Given the description of an element on the screen output the (x, y) to click on. 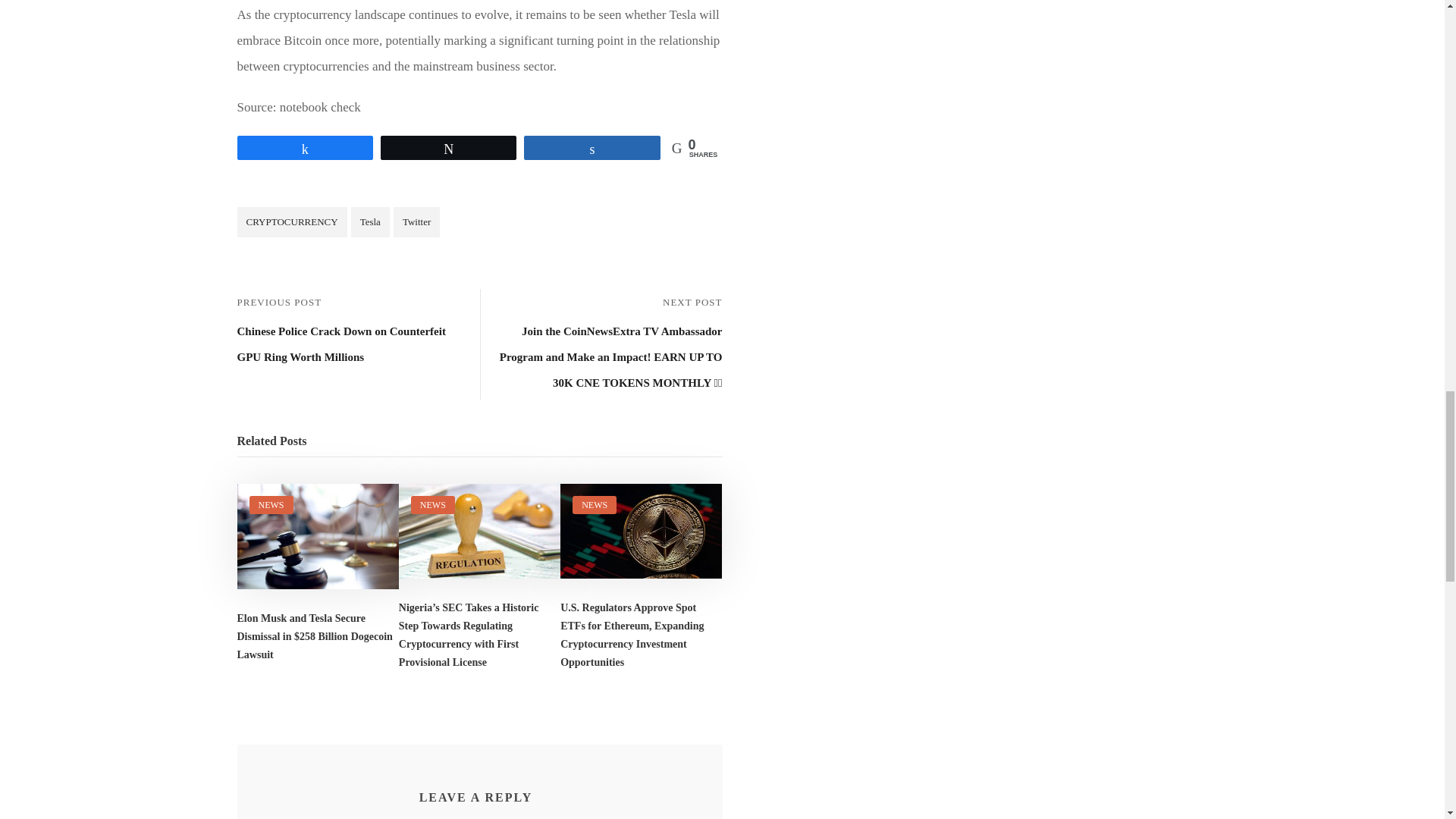
Tesla (370, 222)
NEWS (270, 504)
CRYPTOCURRENCY (290, 222)
NEWS (432, 504)
Twitter (416, 222)
